Given the description of an element on the screen output the (x, y) to click on. 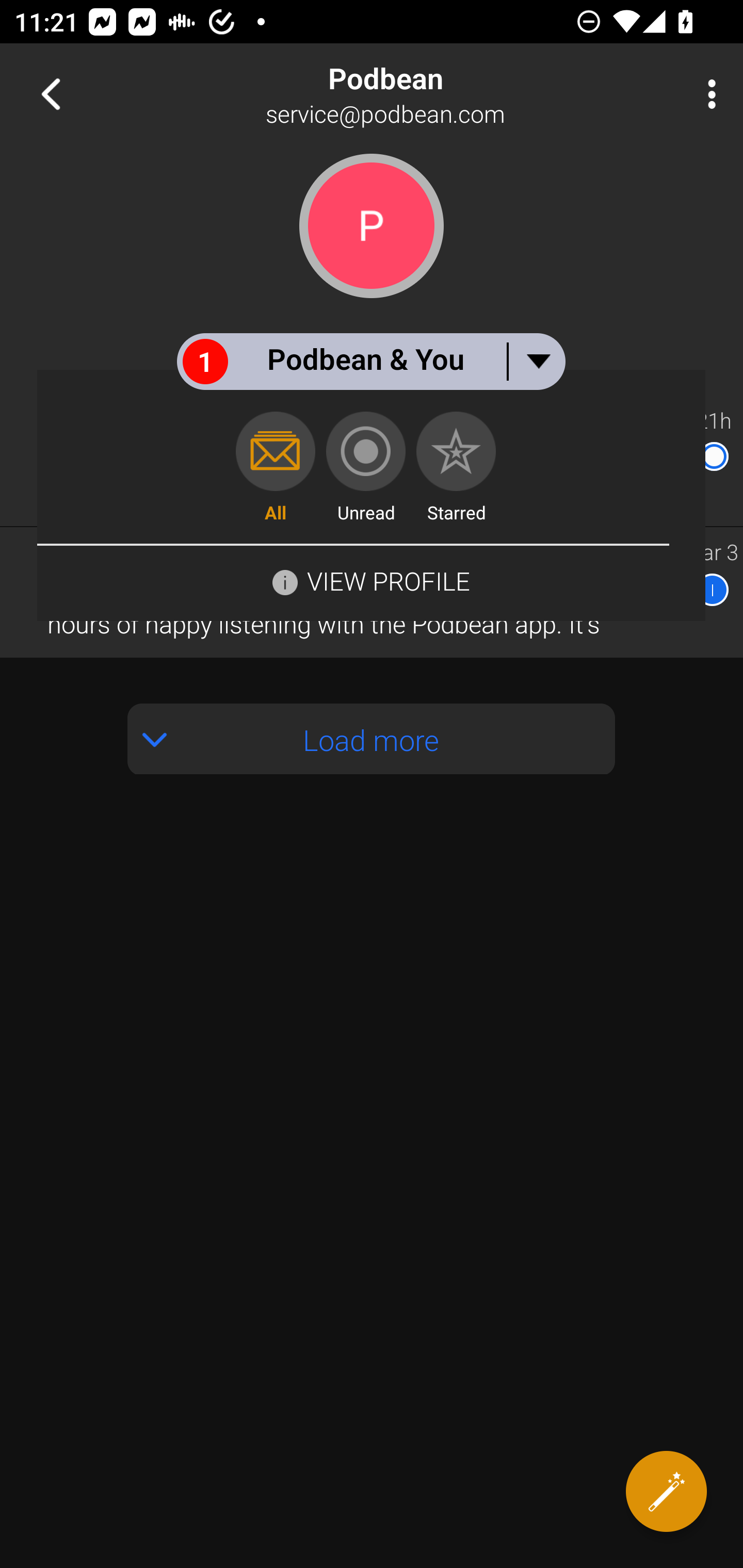
VIEW PROFILE (371, 580)
VIEW PROFILE (388, 580)
